Given the description of an element on the screen output the (x, y) to click on. 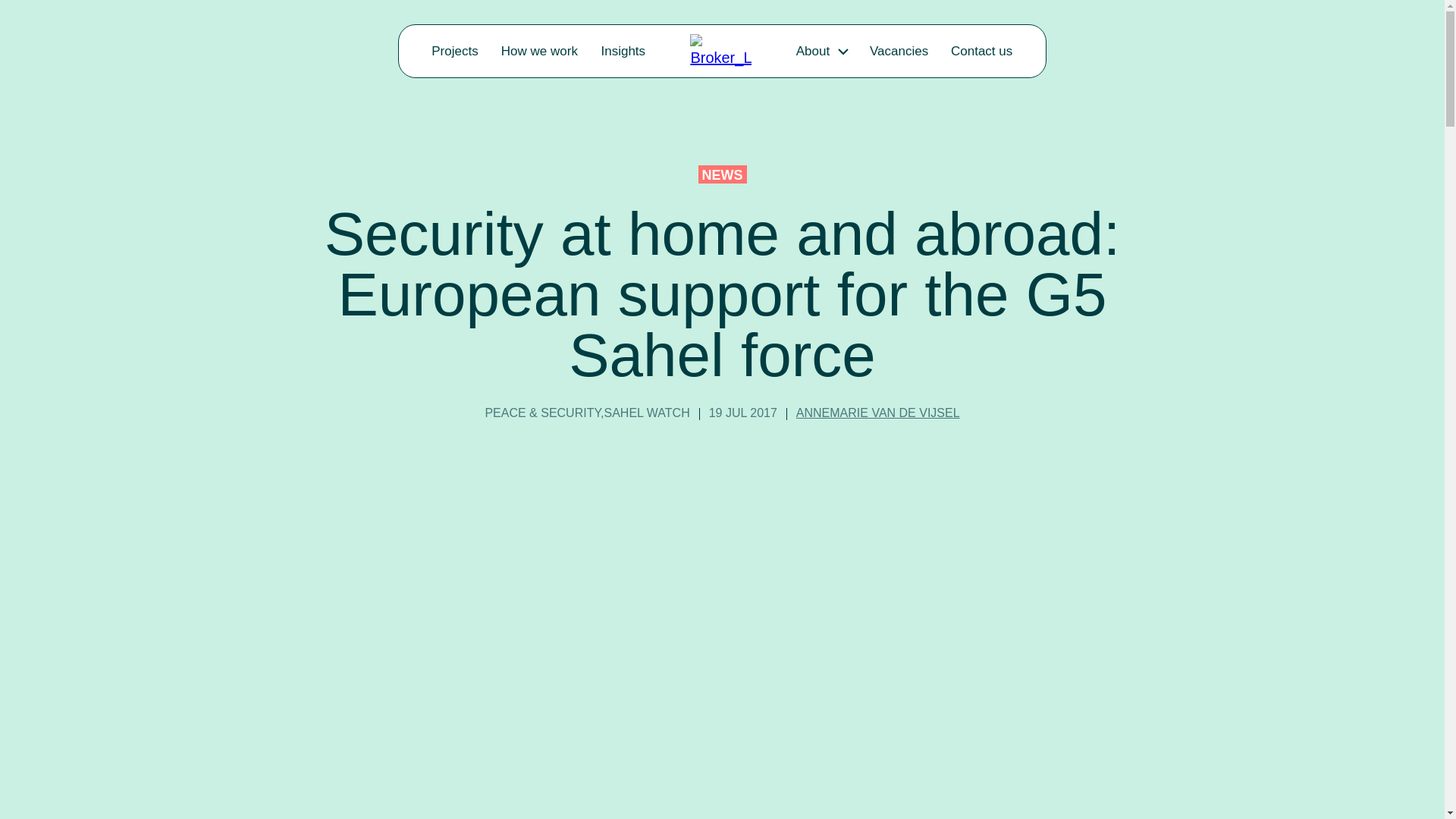
Vacancies (898, 51)
Contact us (981, 51)
Insights (622, 51)
How we work (539, 51)
About (812, 51)
Projects (454, 51)
